Given the description of an element on the screen output the (x, y) to click on. 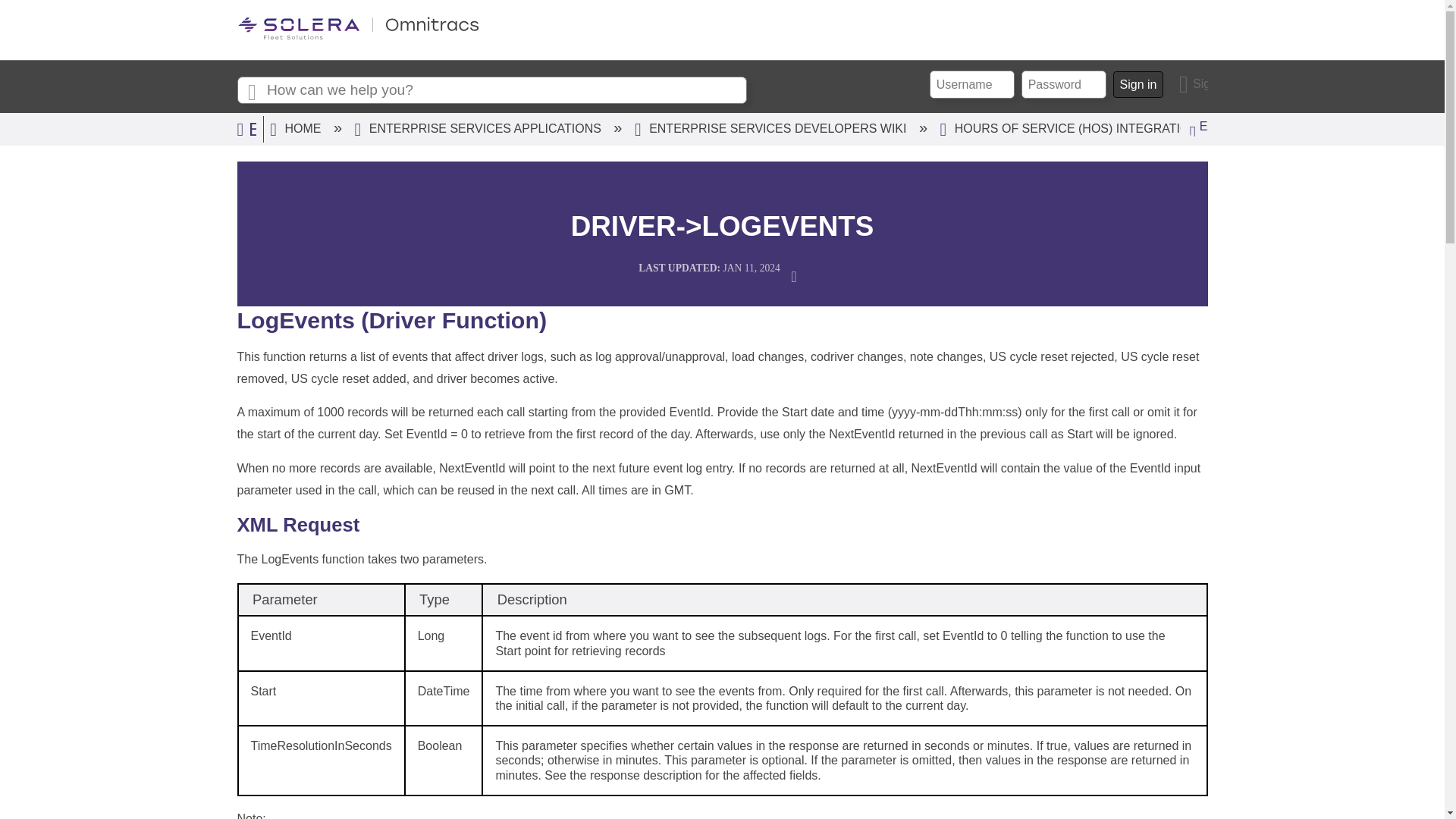
Sign in (1193, 84)
HOME (296, 128)
Search (250, 90)
ENTERPRISE SERVICES DEVELOPERS WIKI (772, 128)
ENTERPRISE SERVICES APPLICATIONS (480, 128)
Sign in (1193, 84)
Omnitracs Knowledge Base (357, 36)
Sign in (1138, 84)
SAVE AS PDF (797, 275)
Export page as a PDF (797, 275)
